Given the description of an element on the screen output the (x, y) to click on. 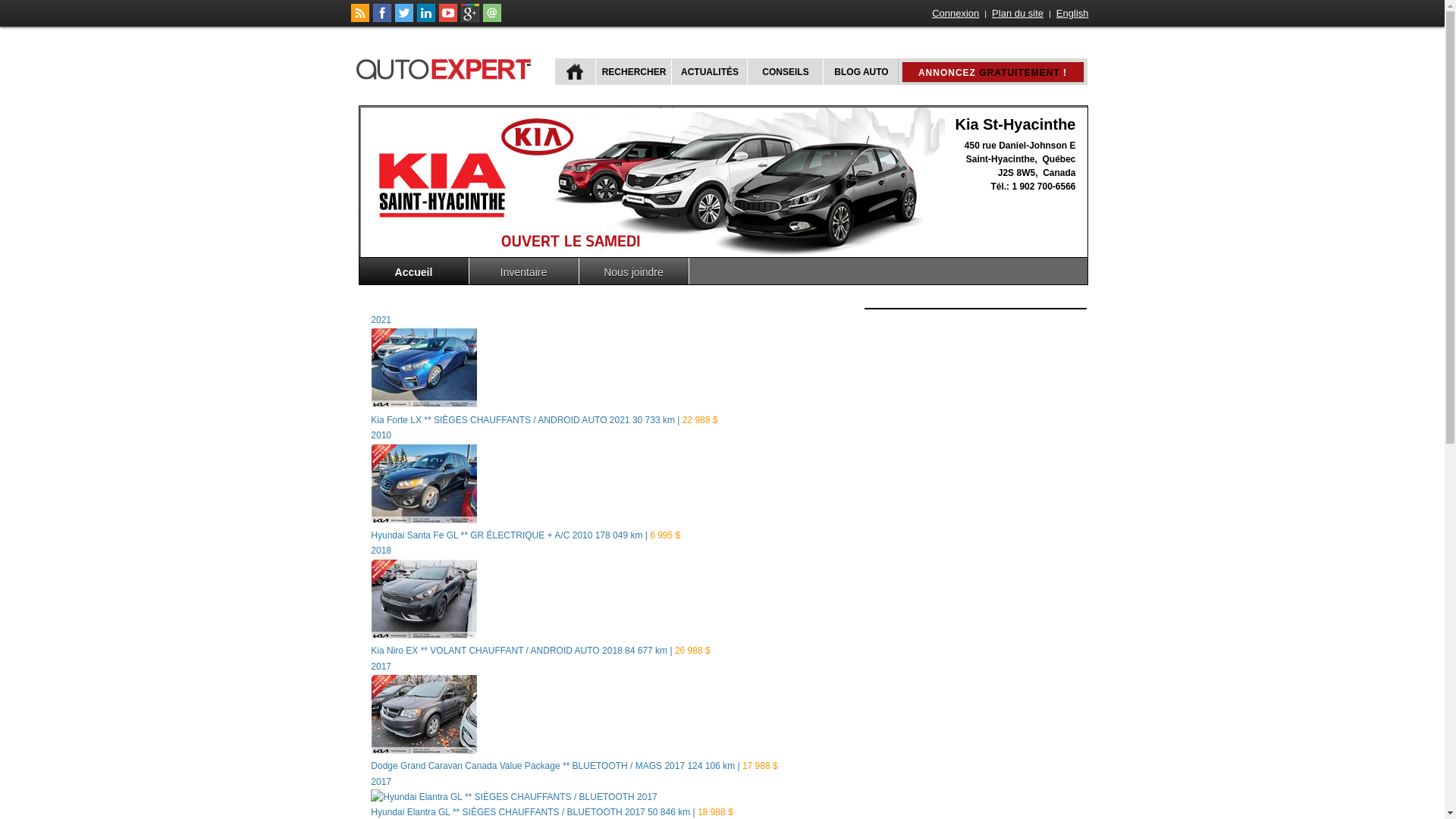
Suivez autoExpert.ca sur Twitter Element type: hover (403, 18)
Nous joindre Element type: text (634, 270)
Suivez Publications Le Guide Inc. sur LinkedIn Element type: hover (426, 18)
ACCUEIL Element type: text (575, 71)
Suivez autoExpert.ca sur Youtube Element type: hover (447, 18)
autoExpert.ca Element type: text (446, 66)
Inventaire Element type: text (523, 270)
Joindre autoExpert.ca Element type: hover (491, 18)
CONSEILS Element type: text (783, 71)
RECHERCHER Element type: text (631, 71)
English Element type: text (1072, 13)
Suivez autoExpert.ca sur Facebook Element type: hover (382, 18)
Suivez autoExpert.ca sur Google Plus Element type: hover (470, 18)
Plan du site Element type: text (1017, 13)
ANNONCEZ GRATUITEMENT ! Element type: text (992, 71)
Accueil Element type: text (414, 270)
Connexion Element type: text (955, 13)
BLOG AUTO Element type: text (859, 71)
